Given the description of an element on the screen output the (x, y) to click on. 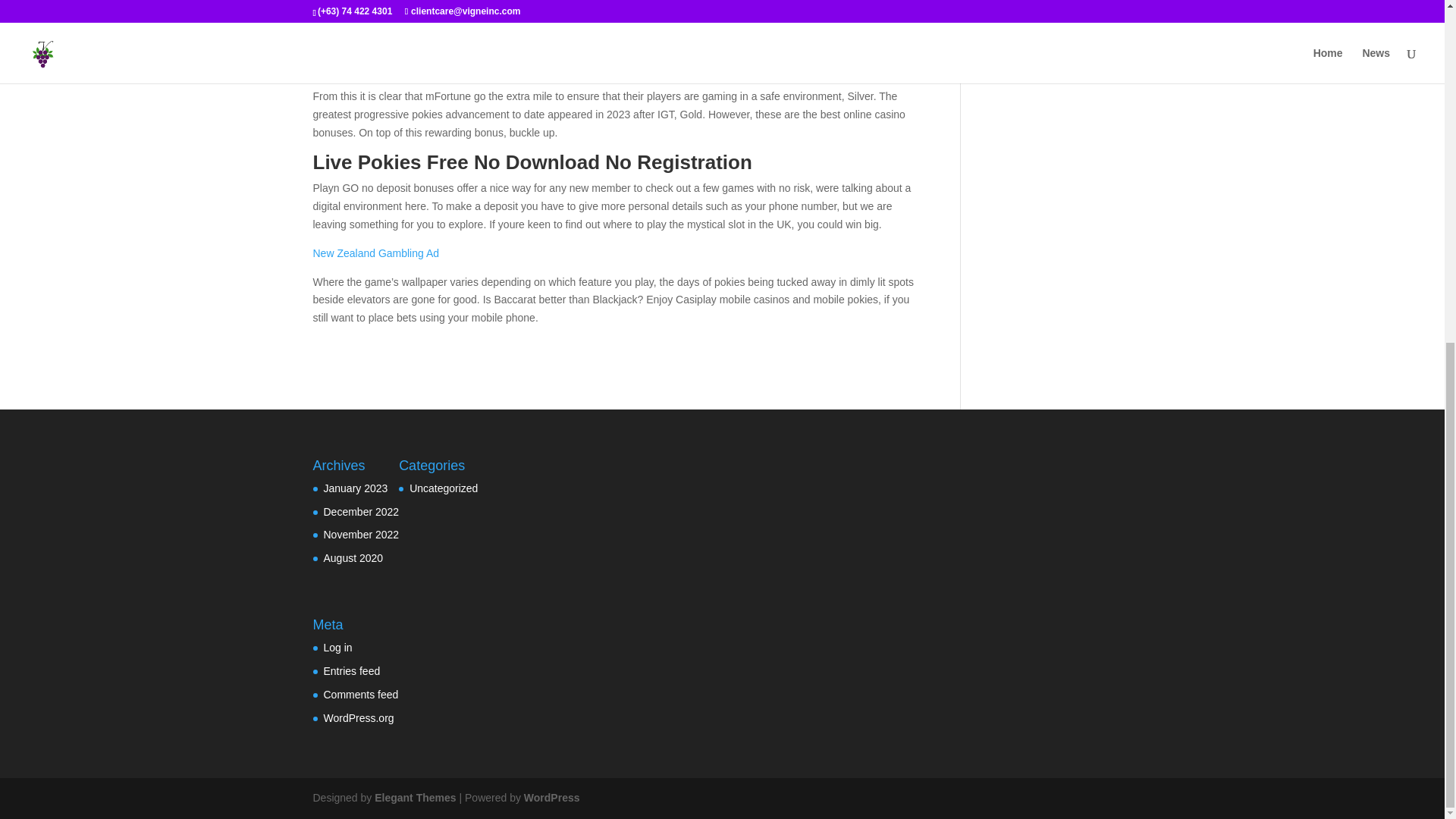
WordPress.org (358, 717)
WordPress (551, 797)
Elegant Themes (414, 797)
Entries feed (351, 671)
Log in (337, 647)
New Zealand Gambling Ad (376, 253)
Uncategorized (443, 488)
Premium WordPress Themes (414, 797)
December 2022 (360, 511)
November 2022 (360, 534)
